Given the description of an element on the screen output the (x, y) to click on. 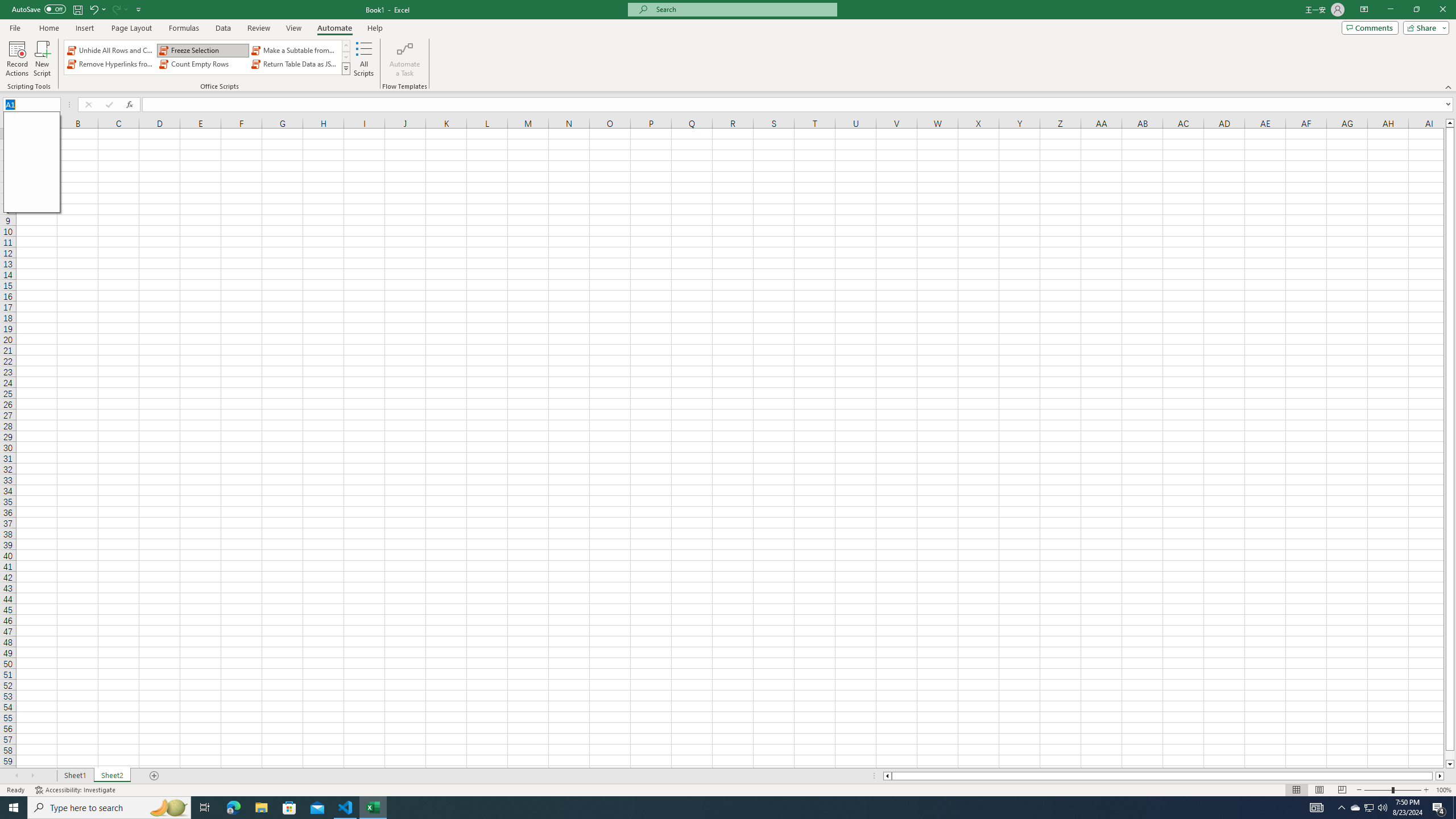
Count Empty Rows (202, 64)
Record Actions (17, 58)
Sheet2 (112, 775)
